Given the description of an element on the screen output the (x, y) to click on. 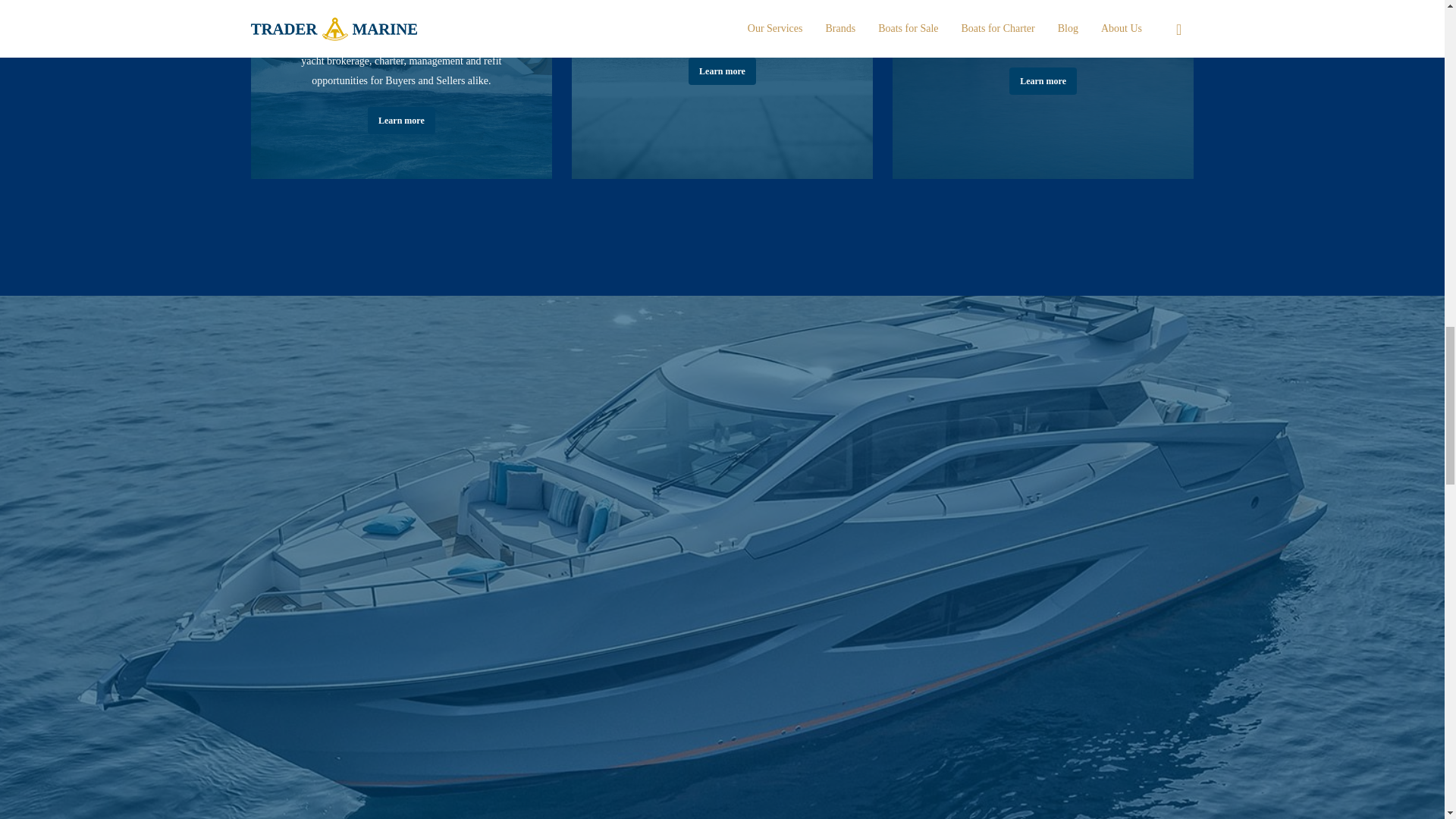
Learn more (1043, 81)
Learn more (721, 71)
Learn more (401, 120)
